Given the description of an element on the screen output the (x, y) to click on. 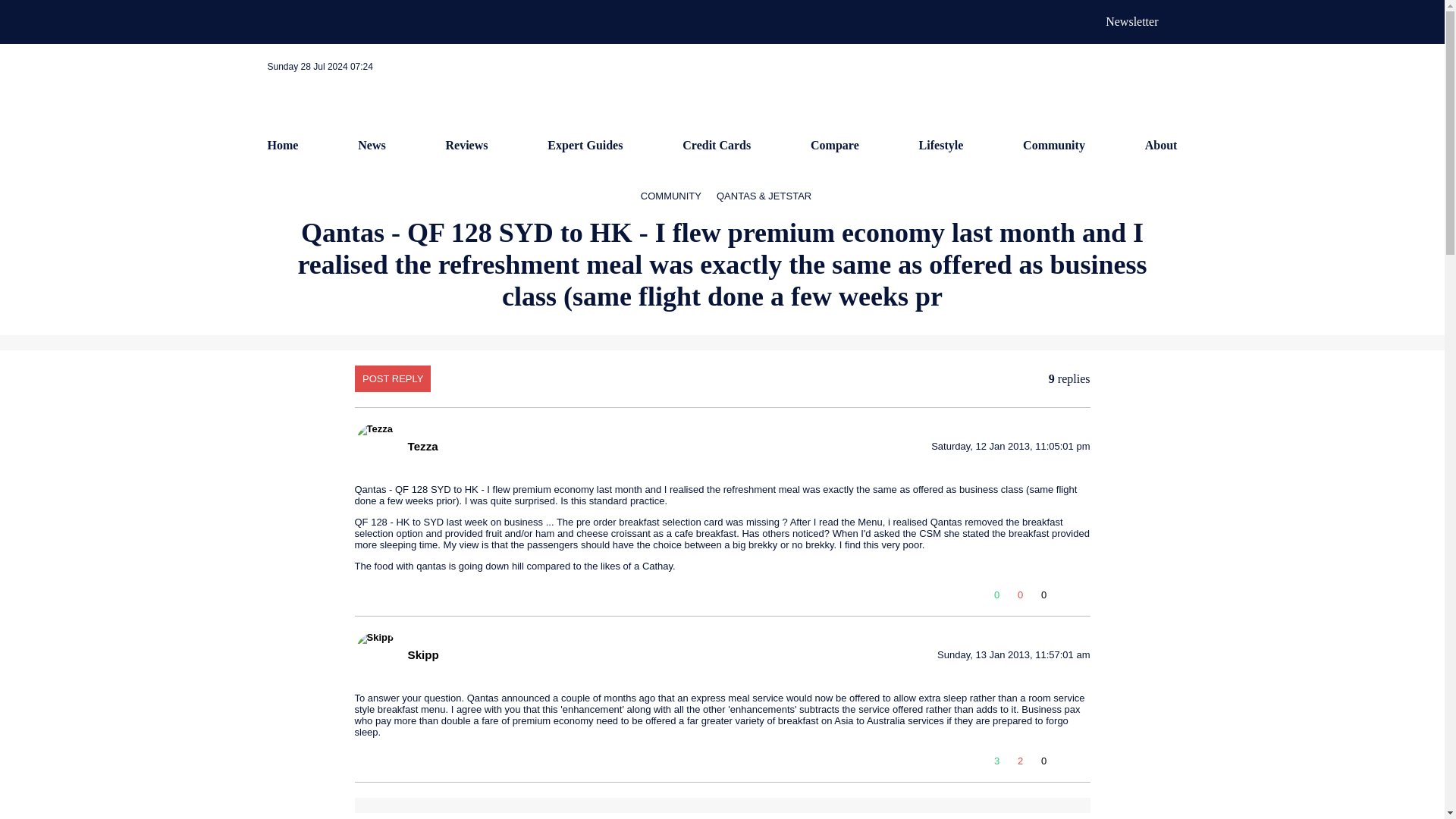
Tezza (422, 445)
Report this post (1082, 598)
Thank Skipp for this helpful post (1043, 760)
Skipp (423, 653)
Thank Tezza for this helpful post (1043, 594)
Dislike (1020, 594)
Like (997, 594)
Dislike (1020, 760)
Reply with Quote (1064, 764)
Like (997, 760)
Report this post (1082, 764)
Reply with Quote (1064, 598)
